Given the description of an element on the screen output the (x, y) to click on. 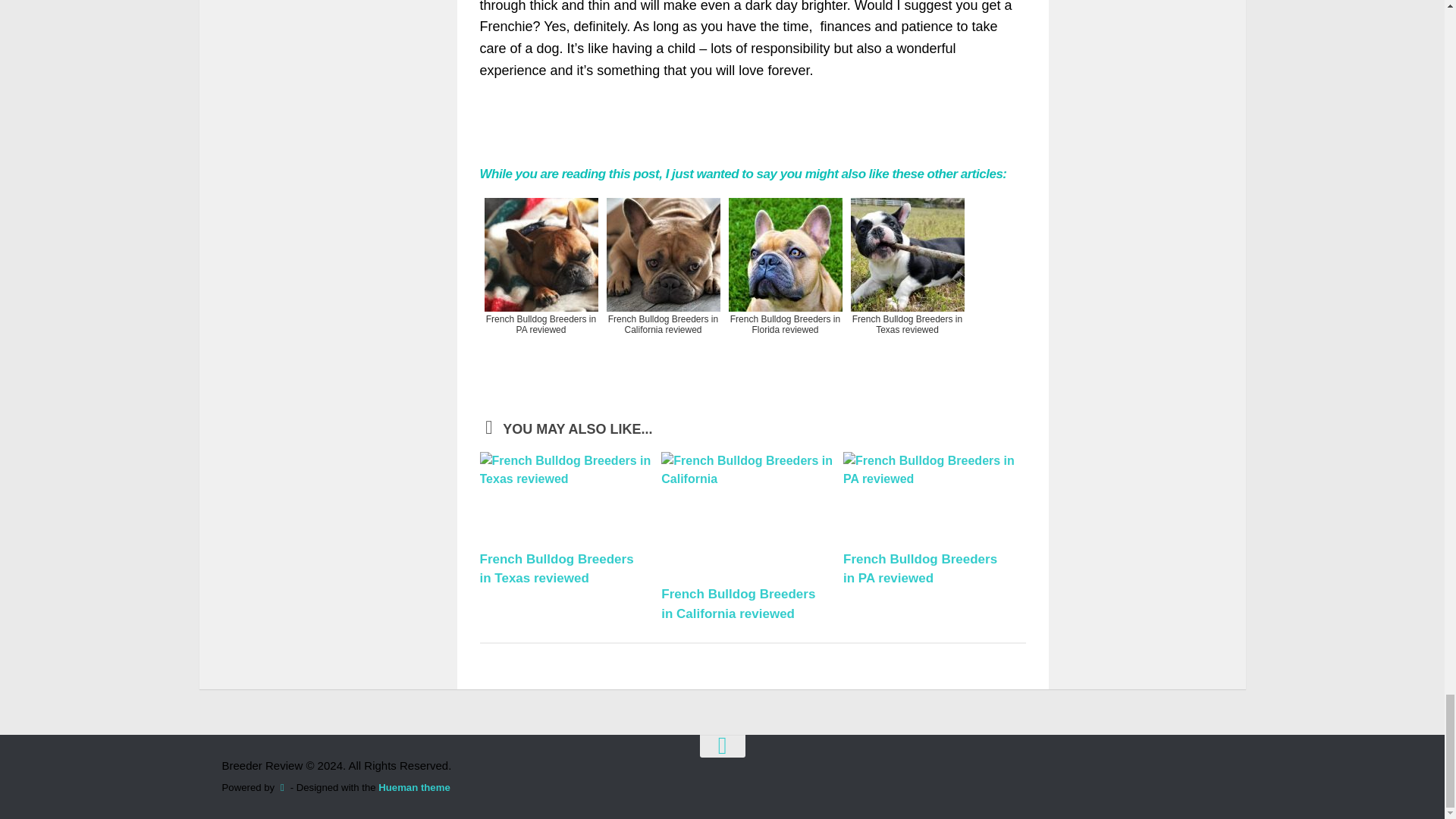
Permalink to French Bulldog Breeders in PA reviewed (920, 569)
Permalink to French Bulldog Breeders in Texas reviewed (556, 569)
Permalink to French Bulldog Breeders in California reviewed (738, 603)
